Given the description of an element on the screen output the (x, y) to click on. 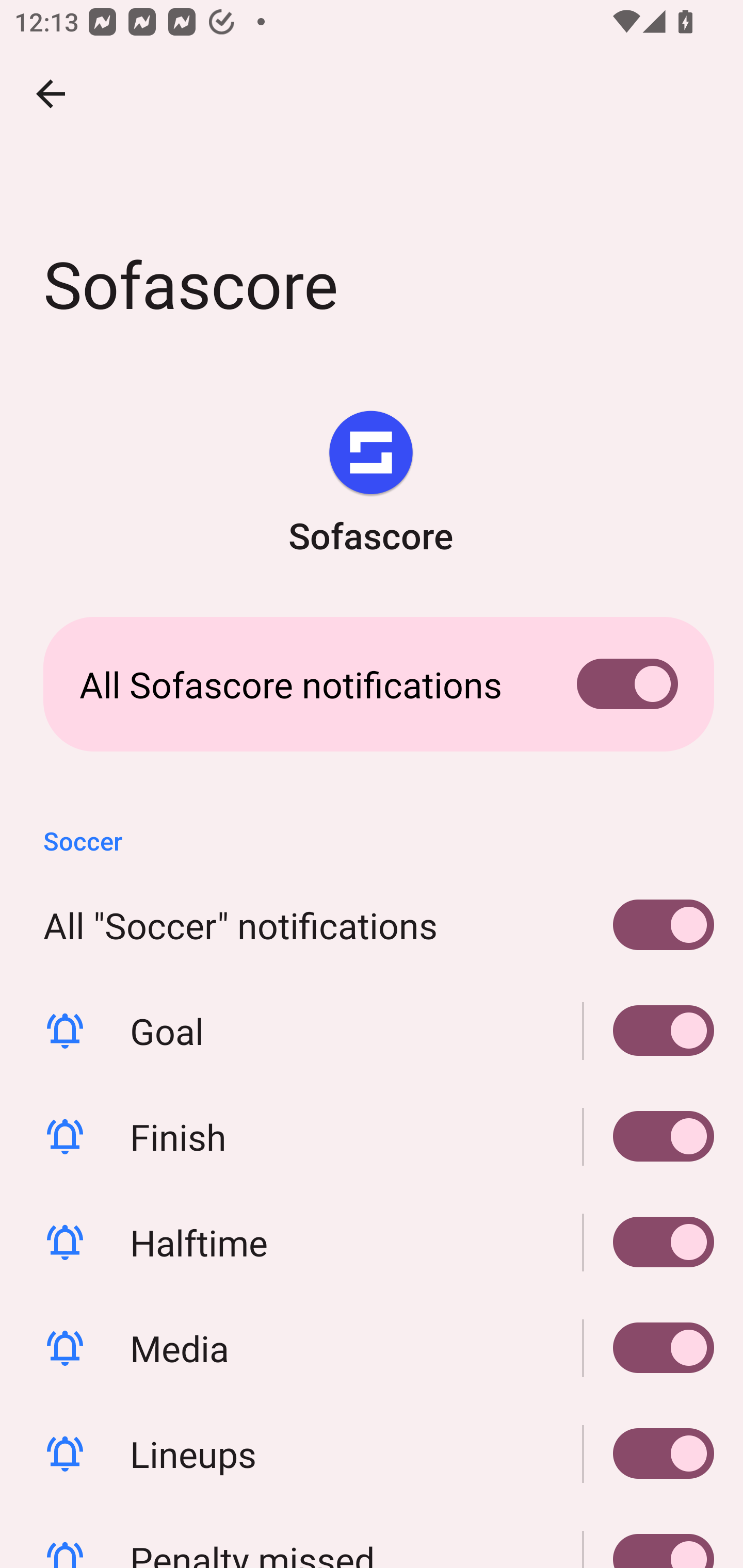
Navigate up (50, 93)
Sofascore (370, 484)
All Sofascore notifications (371, 684)
All "Soccer" notifications (371, 924)
Goal (371, 1030)
Goal (648, 1030)
Finish (371, 1136)
Finish (648, 1136)
Halftime (371, 1242)
Halftime (648, 1242)
Media (371, 1347)
Media (648, 1347)
Lineups (371, 1453)
Lineups (648, 1453)
